Given the description of an element on the screen output the (x, y) to click on. 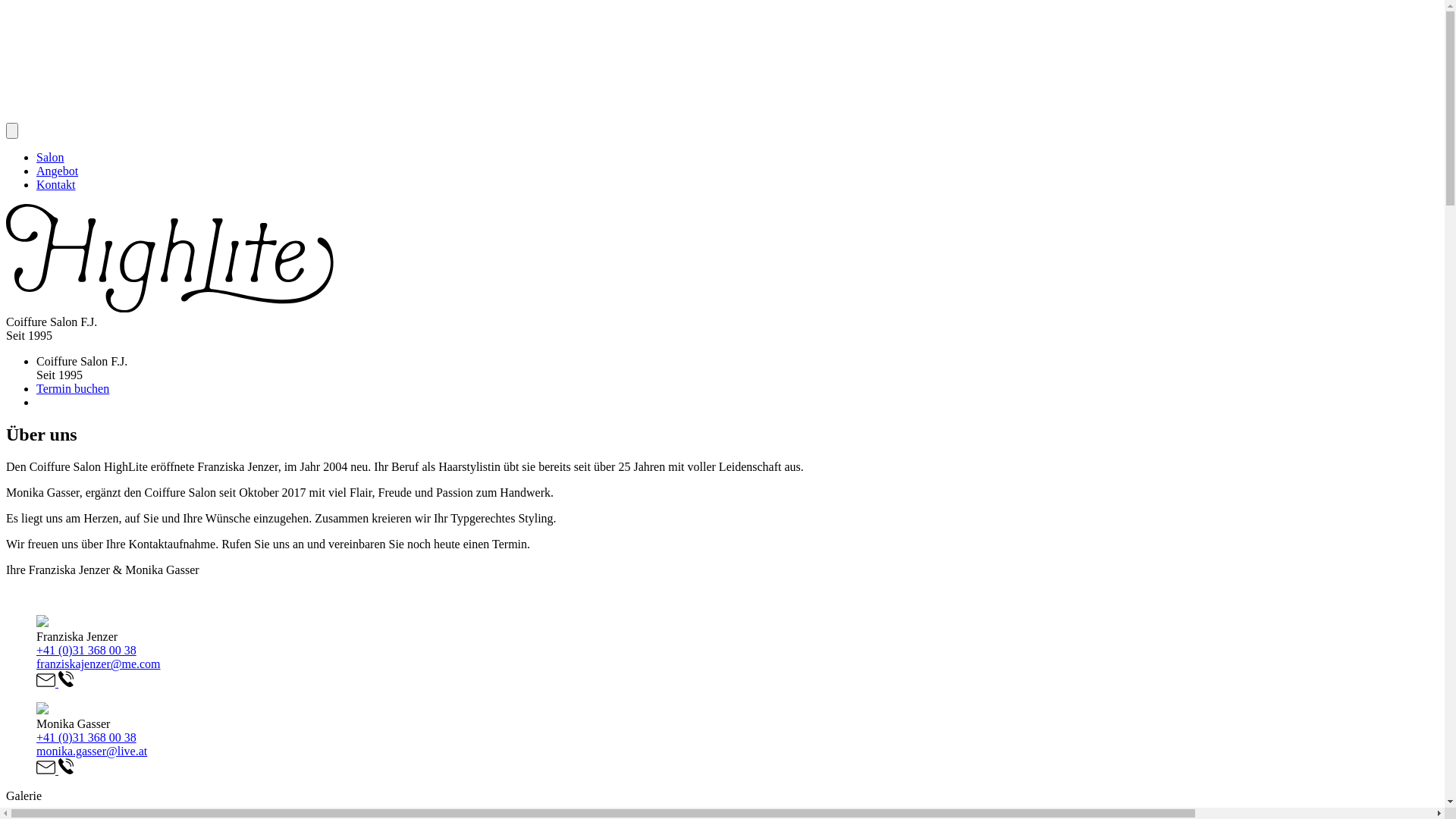
Telefon Franziska Jenzer Element type: hover (65, 682)
monika.gasser@live.at Element type: text (91, 750)
Kontakt Element type: text (55, 184)
E-Mail Monika Gasser Element type: hover (47, 769)
Salon Element type: text (49, 156)
Termin buchen Element type: text (72, 388)
franziskajenzer@me.com Element type: text (98, 663)
Angebot Element type: text (57, 170)
E-Mail Franziska Jenzer Element type: hover (47, 682)
Telefon Monika Gasser Element type: hover (65, 769)
+41 (0)31 368 00 38 Element type: text (86, 649)
+41 (0)31 368 00 38 Element type: text (86, 737)
